Given the description of an element on the screen output the (x, y) to click on. 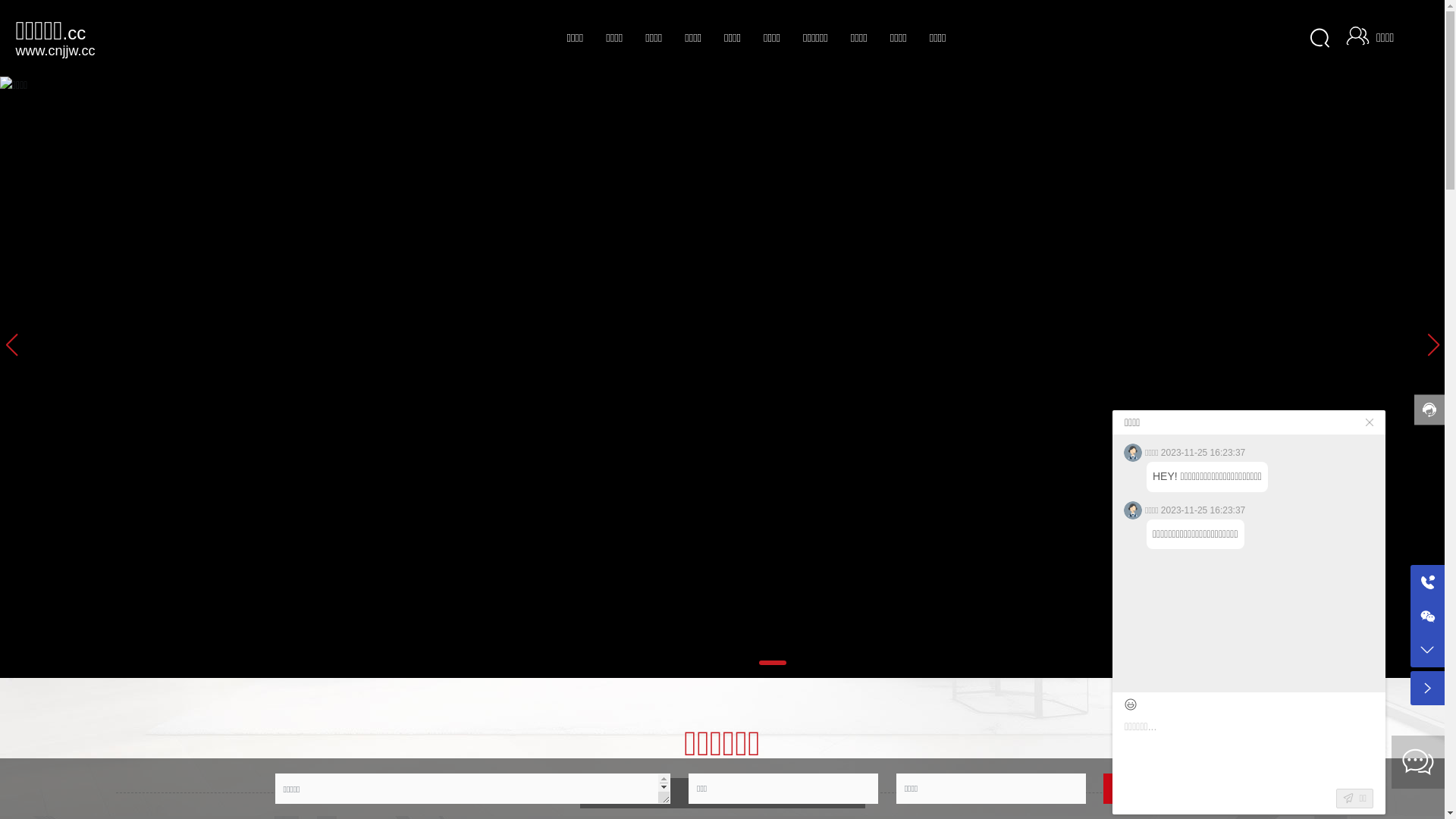
www.cnjjw.cc Element type: text (54, 49)
